Given the description of an element on the screen output the (x, y) to click on. 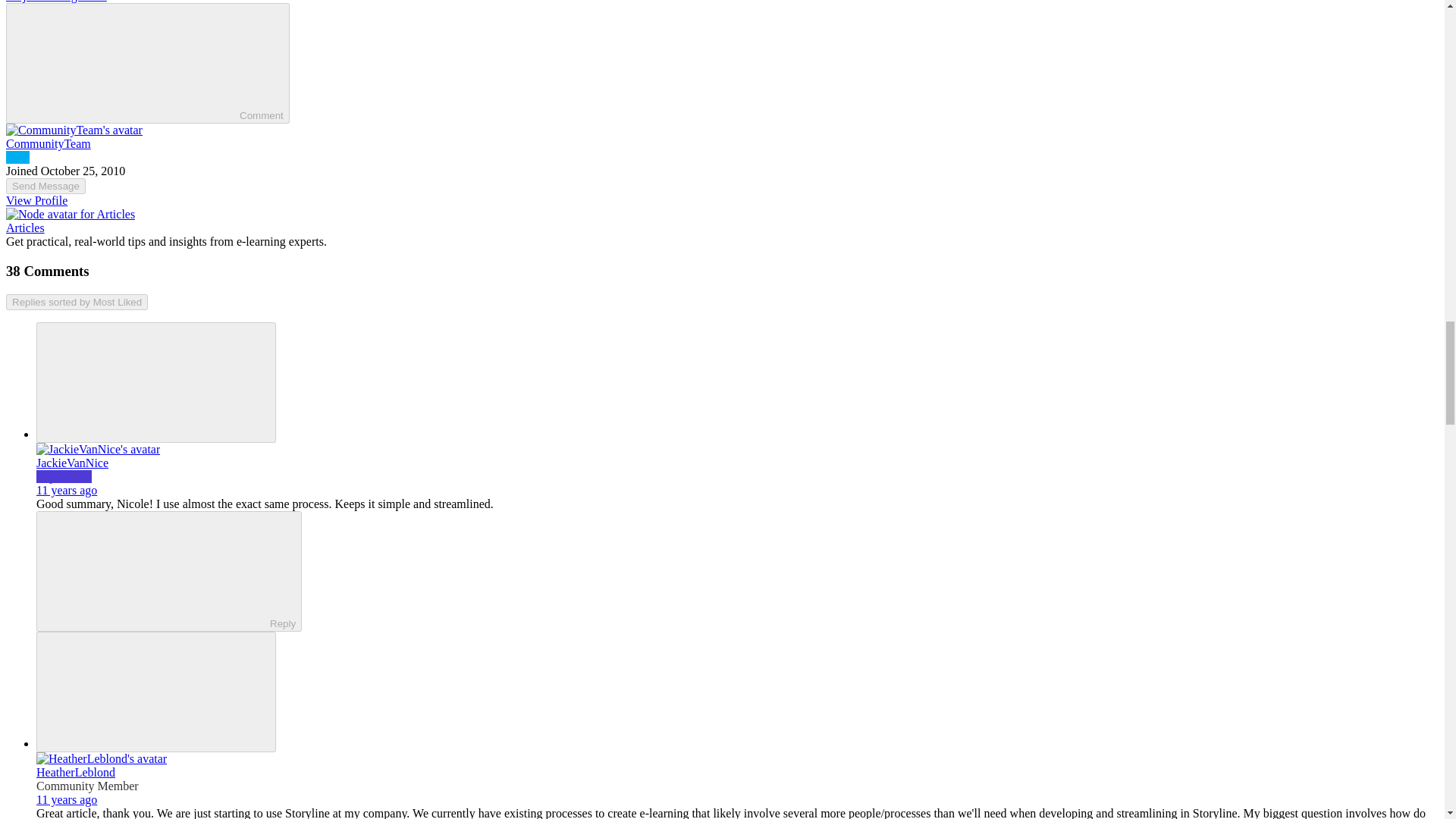
October 13, 2013 at 7:51 AM (66, 799)
Reply (155, 570)
Send Message (45, 186)
Comment (125, 61)
October 10, 2013 at 7:24 AM (66, 490)
